Given the description of an element on the screen output the (x, y) to click on. 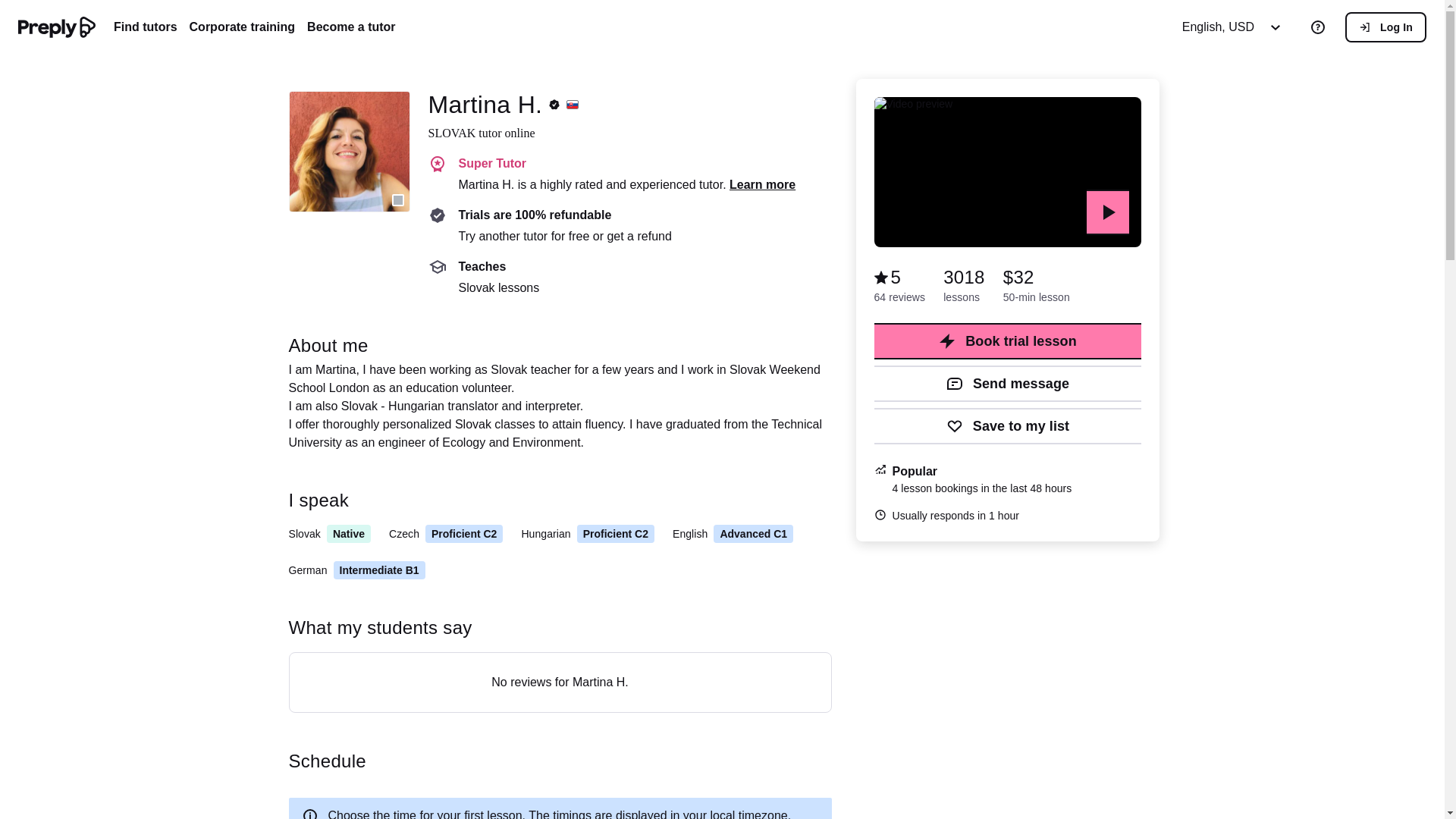
English, USD (1236, 27)
Log In (1385, 27)
Become a tutor (350, 27)
Find tutors (145, 27)
Corporate training (242, 27)
